Given the description of an element on the screen output the (x, y) to click on. 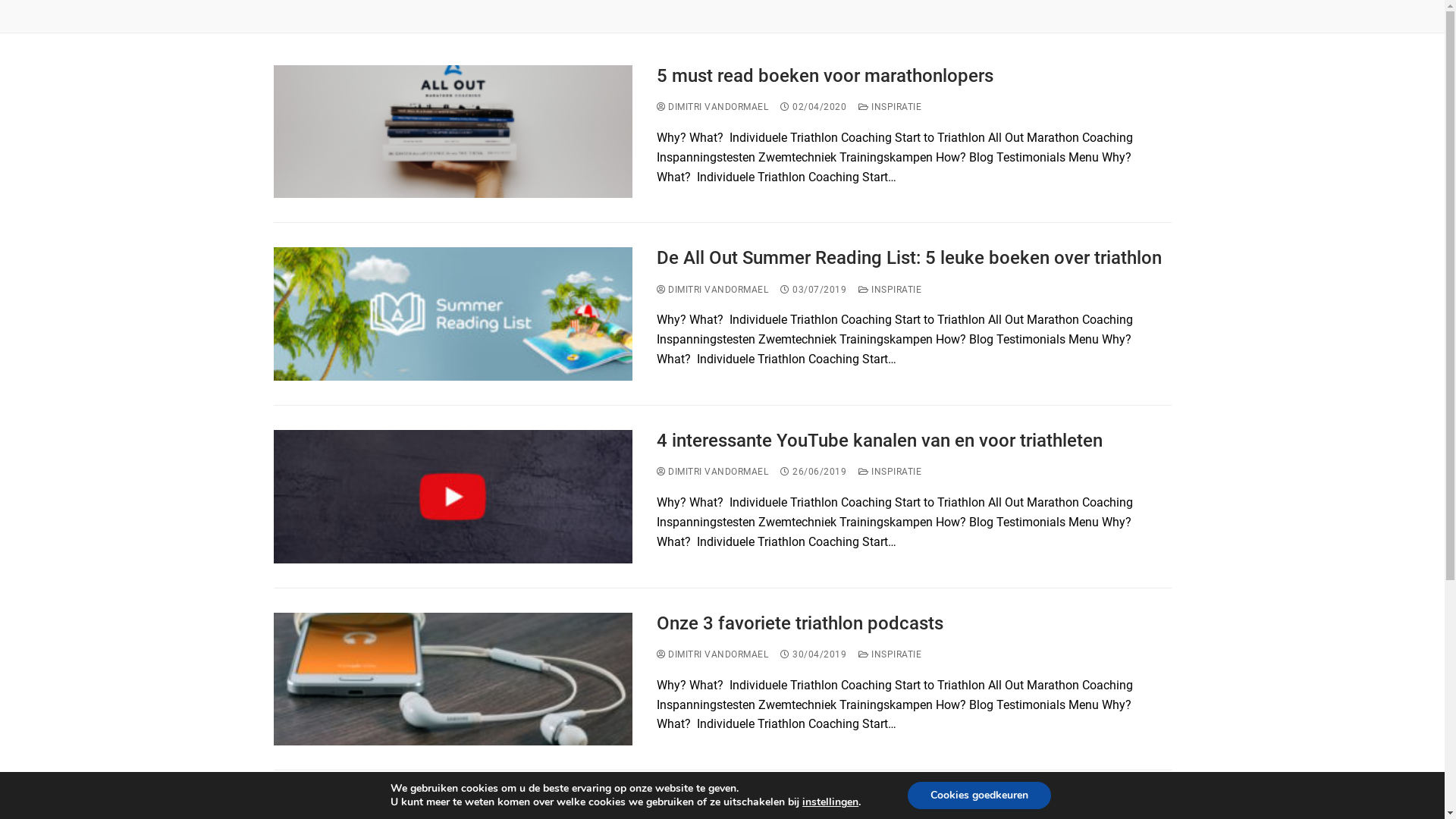
DIMITRI VANDORMAEL Element type: text (712, 106)
5 must read boeken voor marathonlopers Element type: hover (452, 131)
DIMITRI VANDORMAEL Element type: text (712, 654)
INSPIRATIE Element type: text (889, 289)
30/04/2019 Element type: text (813, 654)
4 interessante YouTube kanalen van en voor triathleten Element type: hover (452, 496)
DIMITRI VANDORMAEL Element type: text (712, 471)
Onze 3 favoriete triathlon podcasts Element type: hover (452, 679)
26/06/2019 Element type: text (813, 471)
INSPIRATIE Element type: text (889, 654)
4 interessante YouTube kanalen van en voor triathleten Element type: text (913, 440)
03/07/2019 Element type: text (813, 289)
INSPIRATIE Element type: text (889, 106)
5 must read boeken voor marathonlopers Element type: text (913, 76)
02/04/2020 Element type: text (813, 106)
Cookies goedkeuren Element type: text (979, 795)
INSPIRATIE Element type: text (889, 471)
DIMITRI VANDORMAEL Element type: text (712, 289)
Onze 3 favoriete triathlon podcasts Element type: text (913, 623)
